Given the description of an element on the screen output the (x, y) to click on. 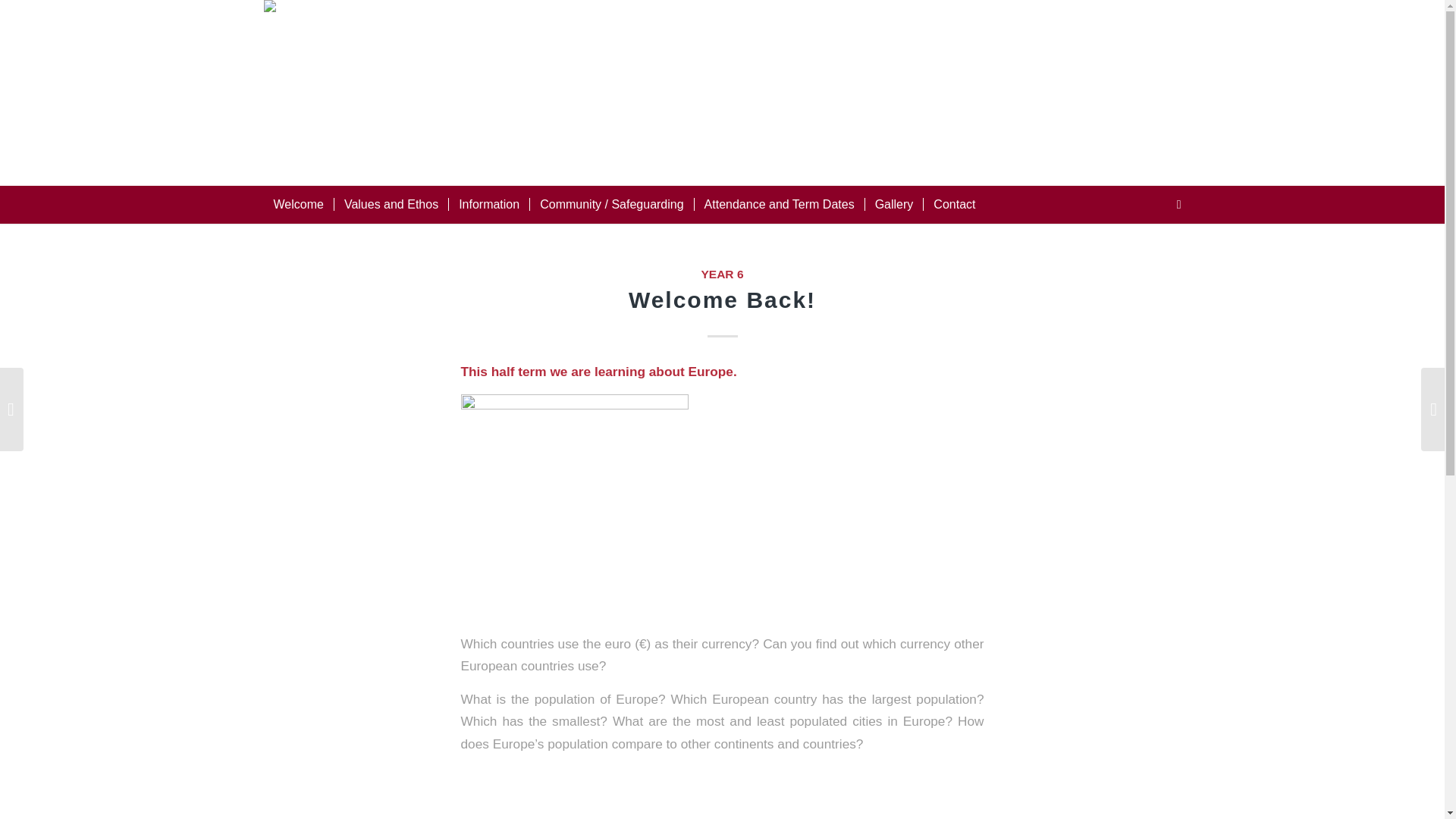
YEAR 6 (721, 273)
Values and Ethos (390, 204)
Gallery (893, 204)
Contact (954, 204)
Information (488, 204)
logo-text-lanscape (352, 92)
Welcome (298, 204)
logo-text-lanscape (352, 29)
Attendance and Term Dates (779, 204)
